Given the description of an element on the screen output the (x, y) to click on. 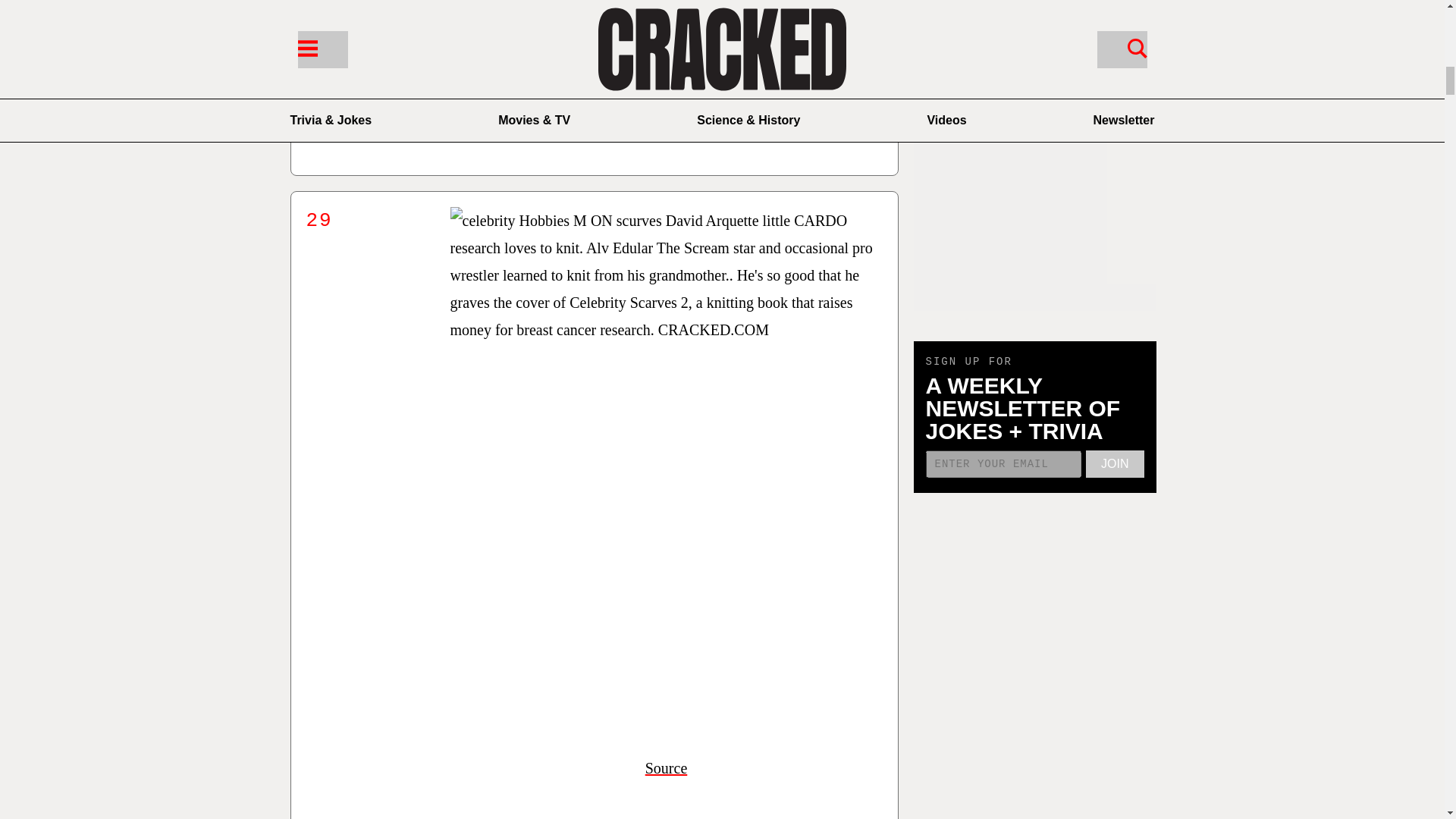
Source (666, 117)
Source (666, 768)
